Given the description of an element on the screen output the (x, y) to click on. 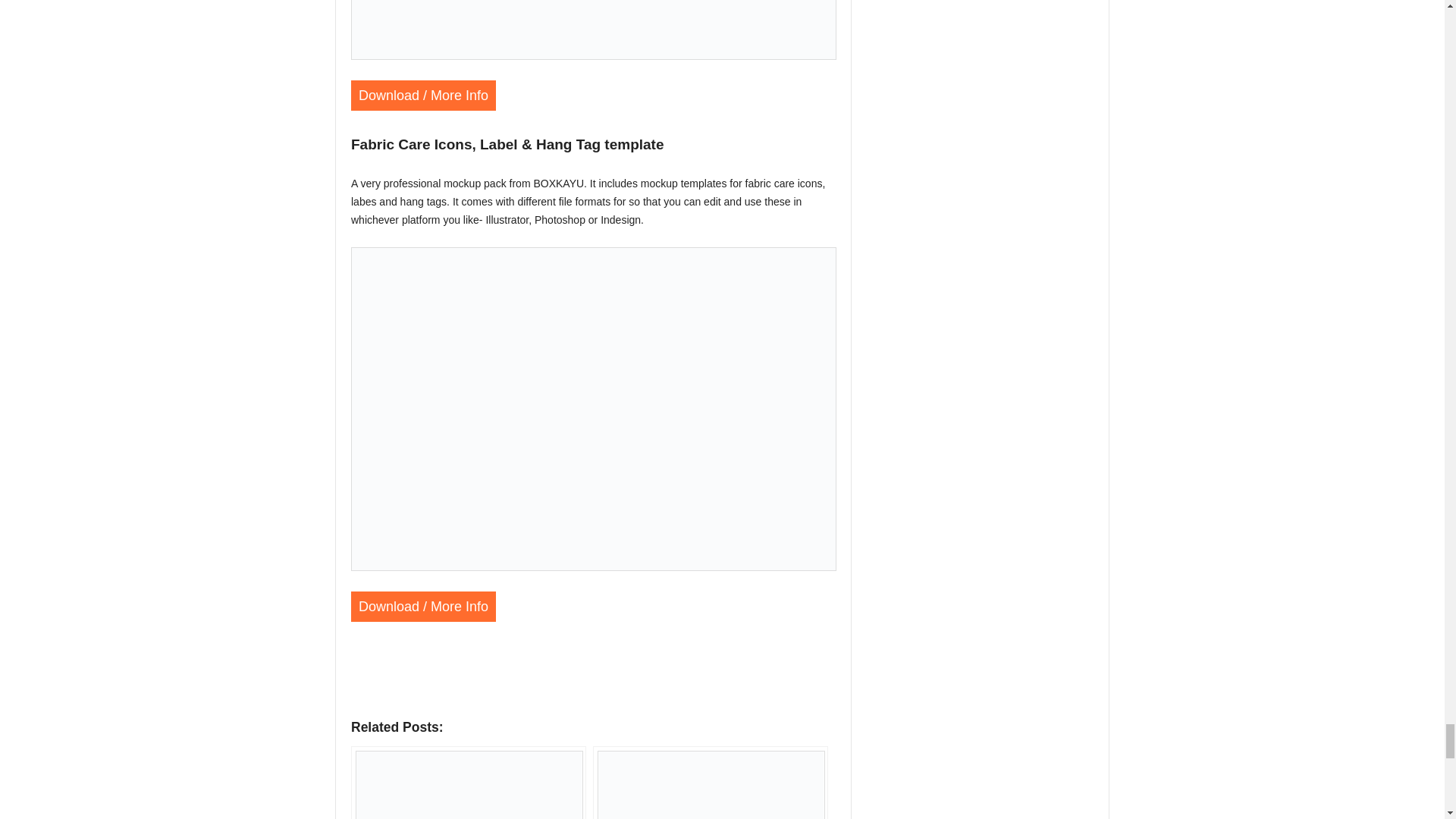
36 Elegant Wine Bottle Mockup PSD and Label Templates (468, 782)
